Given the description of an element on the screen output the (x, y) to click on. 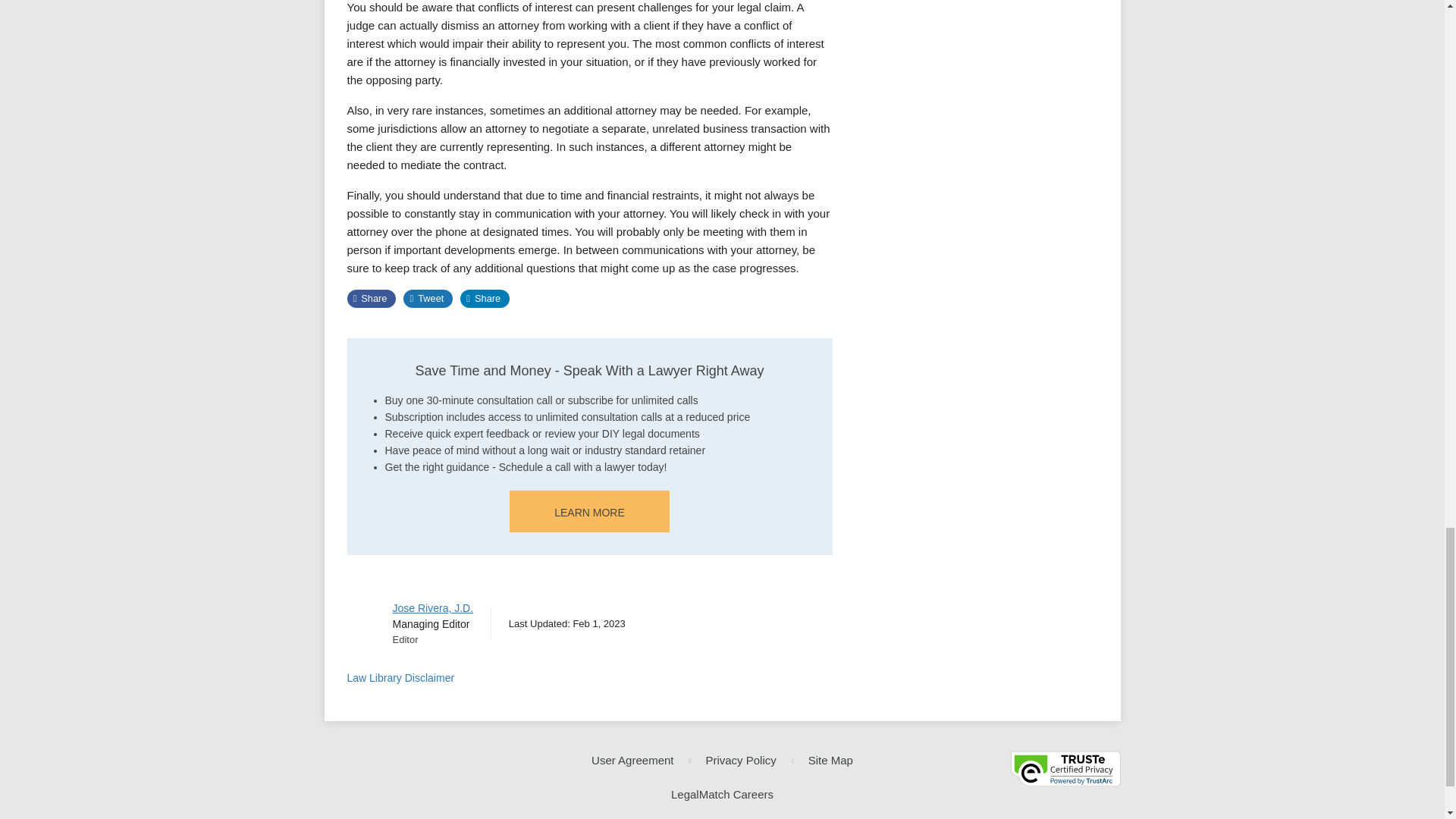
Share LawLib Page On Facebook (371, 298)
Share LawLib Page On Linkedin (484, 298)
Share LawLib Page On Twitter (427, 298)
LegalMatch Careers (722, 794)
